Given the description of an element on the screen output the (x, y) to click on. 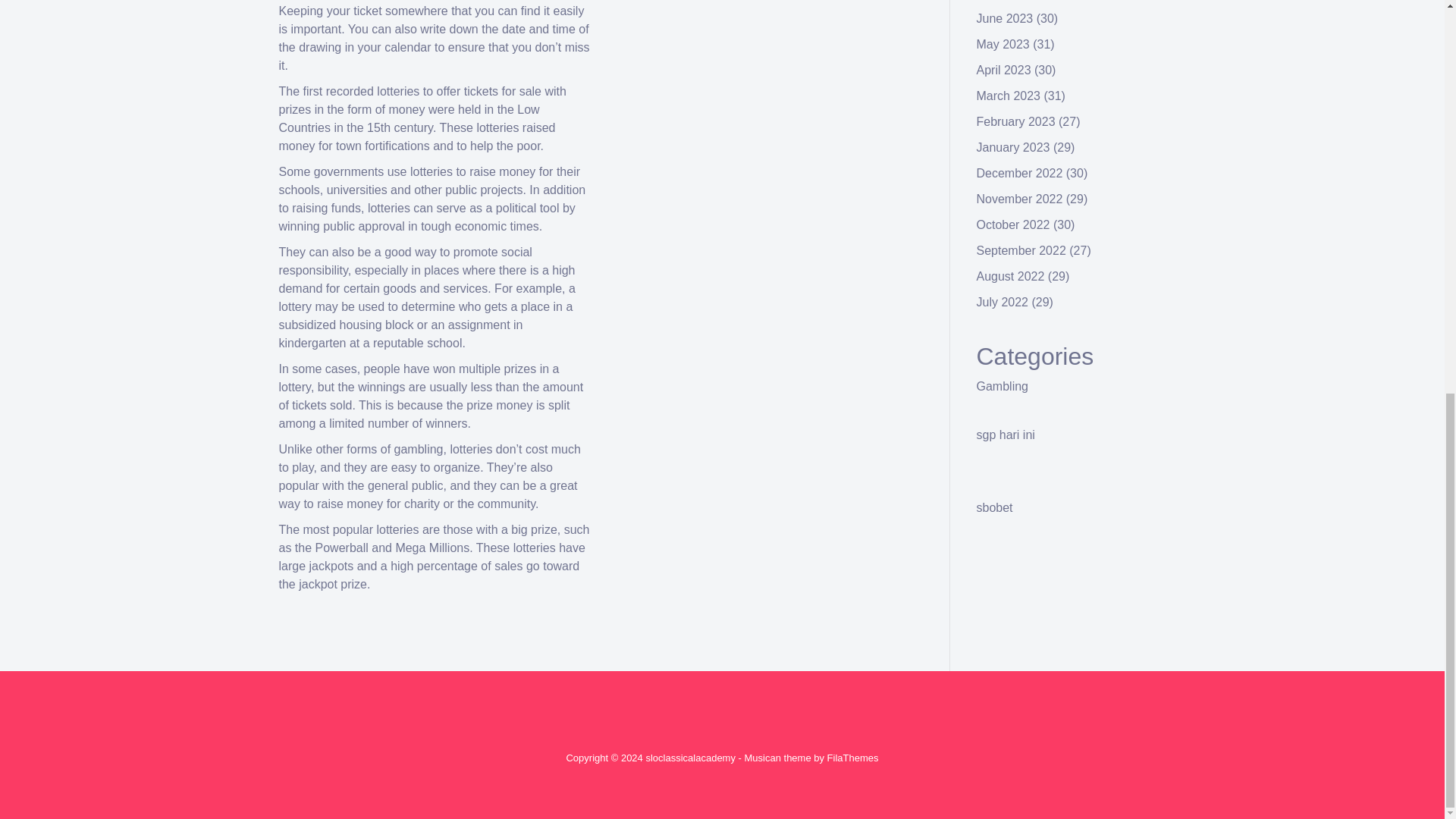
April 2023 (1003, 69)
July 2022 (1002, 301)
February 2023 (1015, 121)
August 2022 (1010, 276)
November 2022 (1019, 198)
Gambling (1001, 386)
December 2022 (1019, 173)
sgp hari ini (1005, 434)
sloclassicalacademy (690, 757)
May 2023 (1002, 43)
June 2023 (1004, 18)
September 2022 (1020, 250)
January 2023 (1012, 146)
October 2022 (1012, 224)
March 2023 (1008, 95)
